Given the description of an element on the screen output the (x, y) to click on. 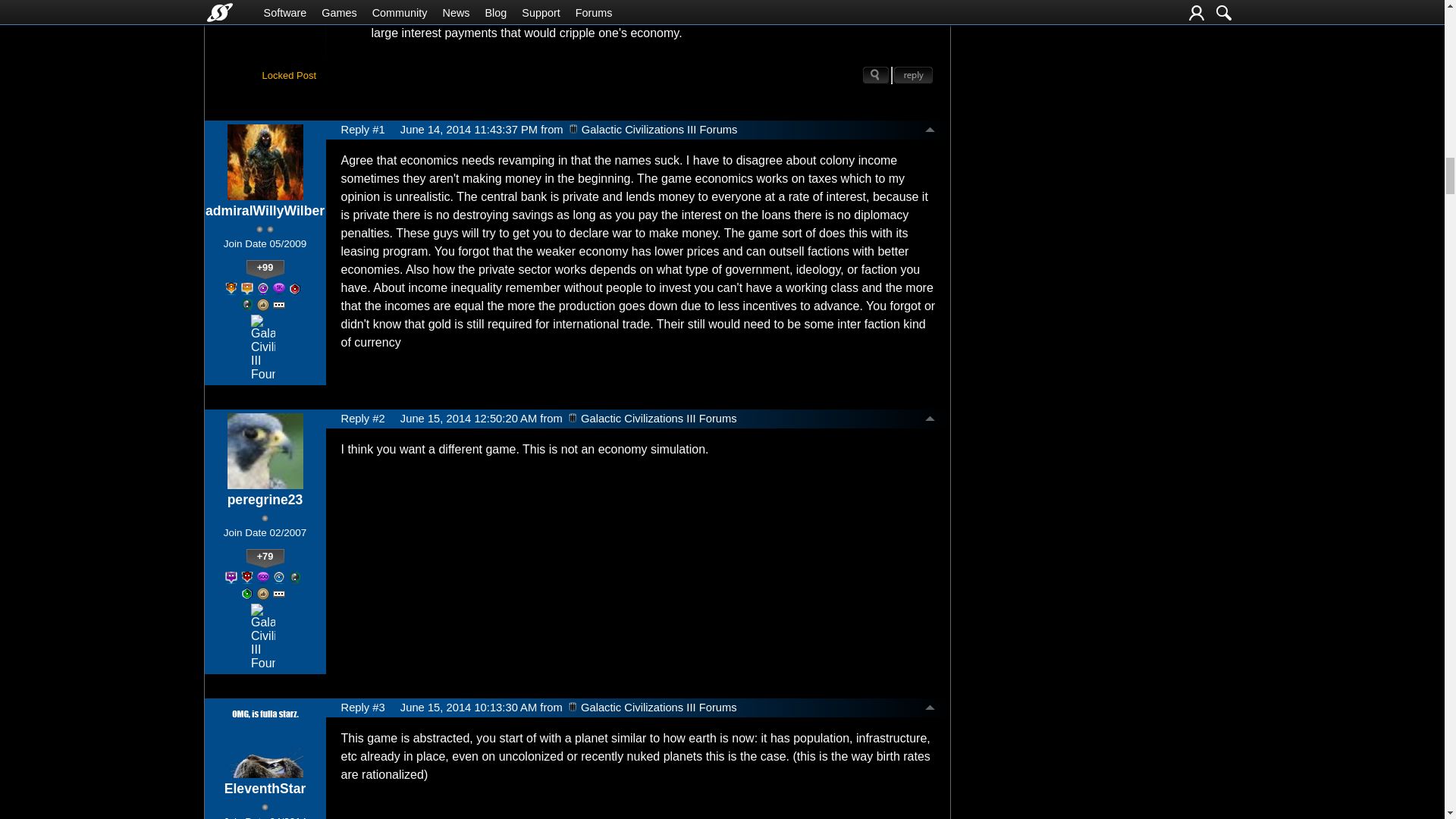
Search this post (876, 75)
Click user name to view more options. (264, 211)
Rank: 2 (264, 229)
Reply to this post (913, 75)
